Given the description of an element on the screen output the (x, y) to click on. 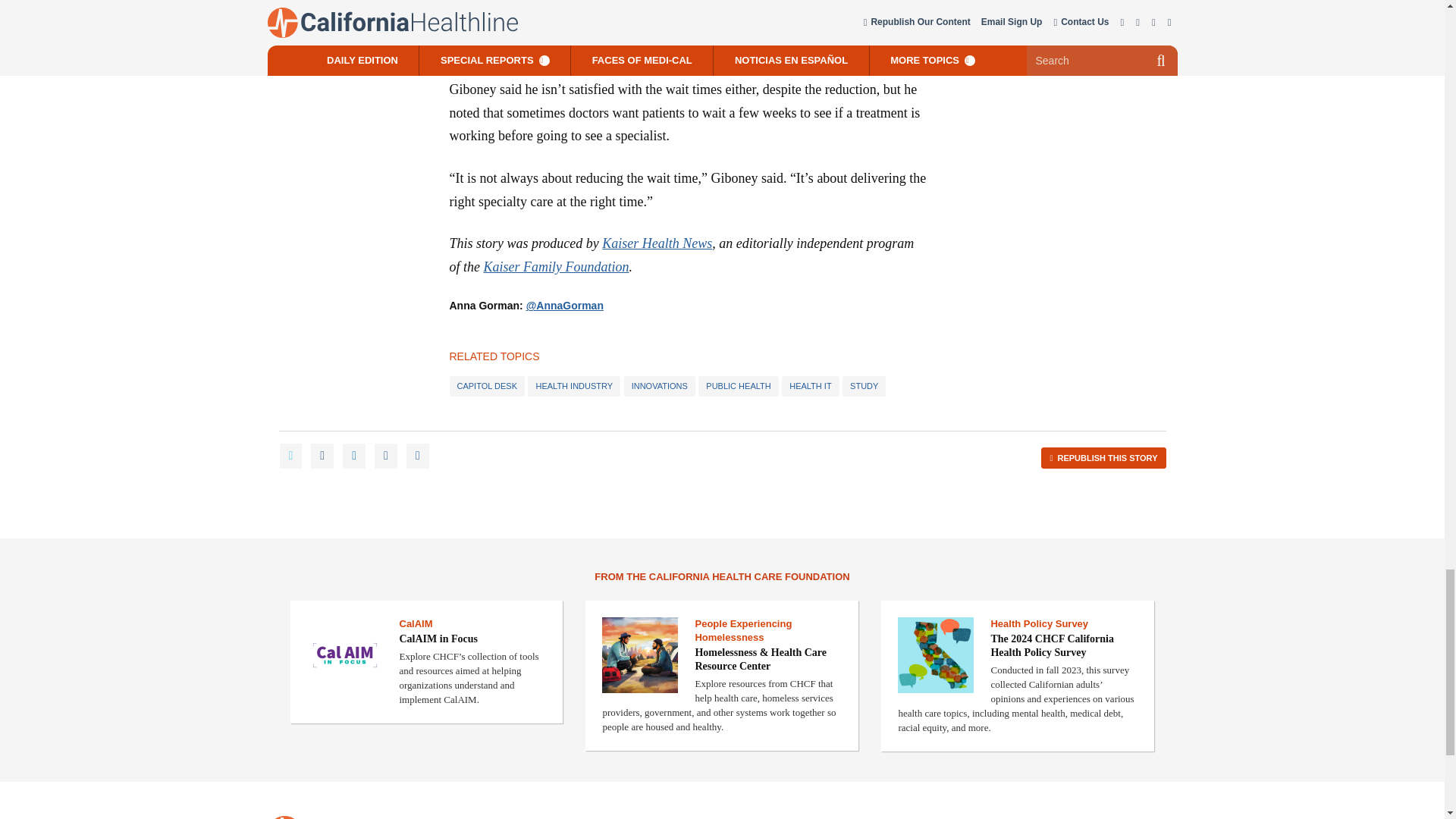
Kaiser Family Foundation (555, 266)
HEALTH INDUSTRY (573, 385)
California Healthline (283, 817)
Kaiser Health News (656, 242)
INNOVATIONS (659, 385)
Click to share (1103, 458)
CAPITOL DESK (486, 385)
